Given the description of an element on the screen output the (x, y) to click on. 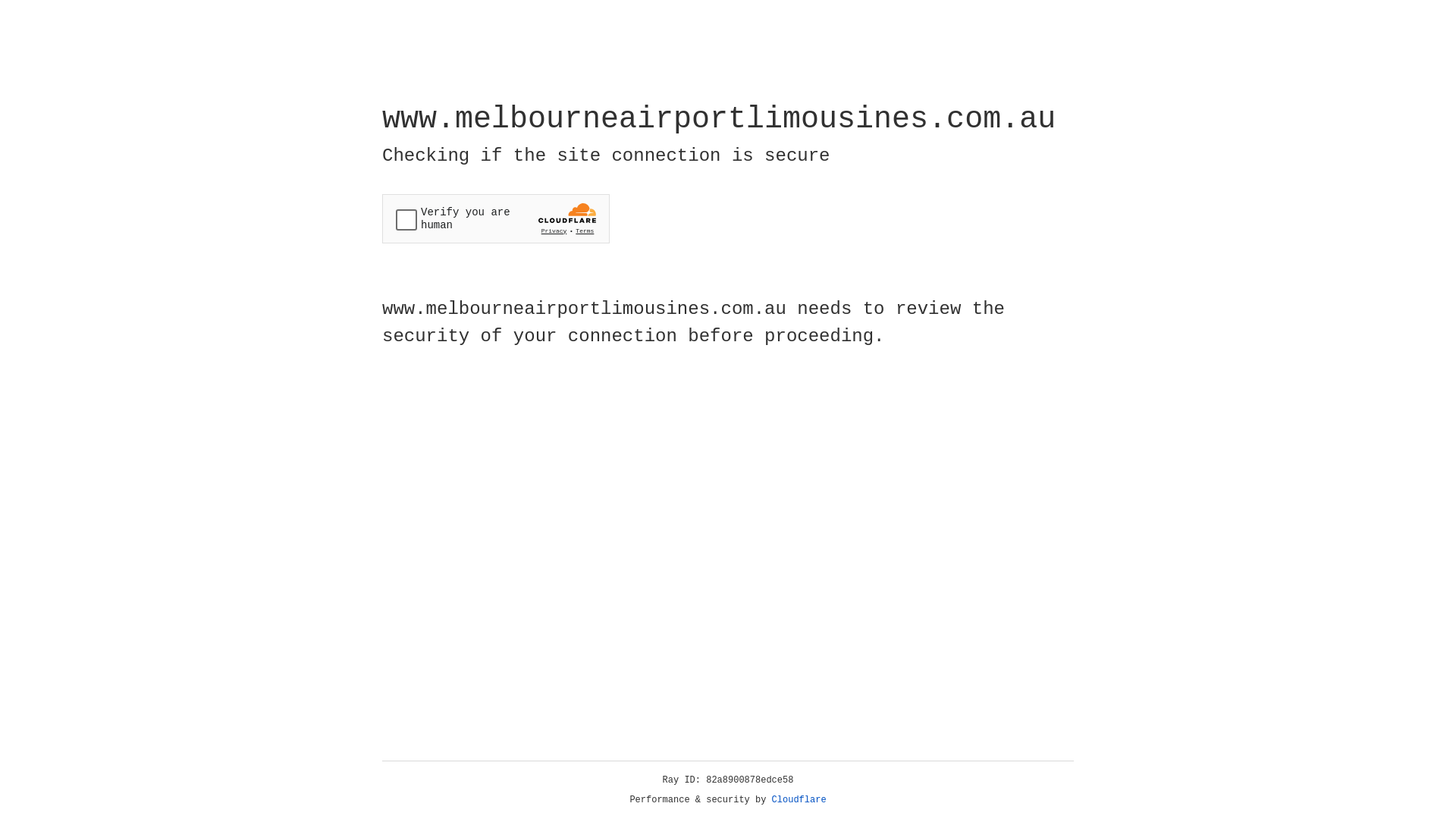
Cloudflare Element type: text (798, 799)
Widget containing a Cloudflare security challenge Element type: hover (495, 218)
